Given the description of an element on the screen output the (x, y) to click on. 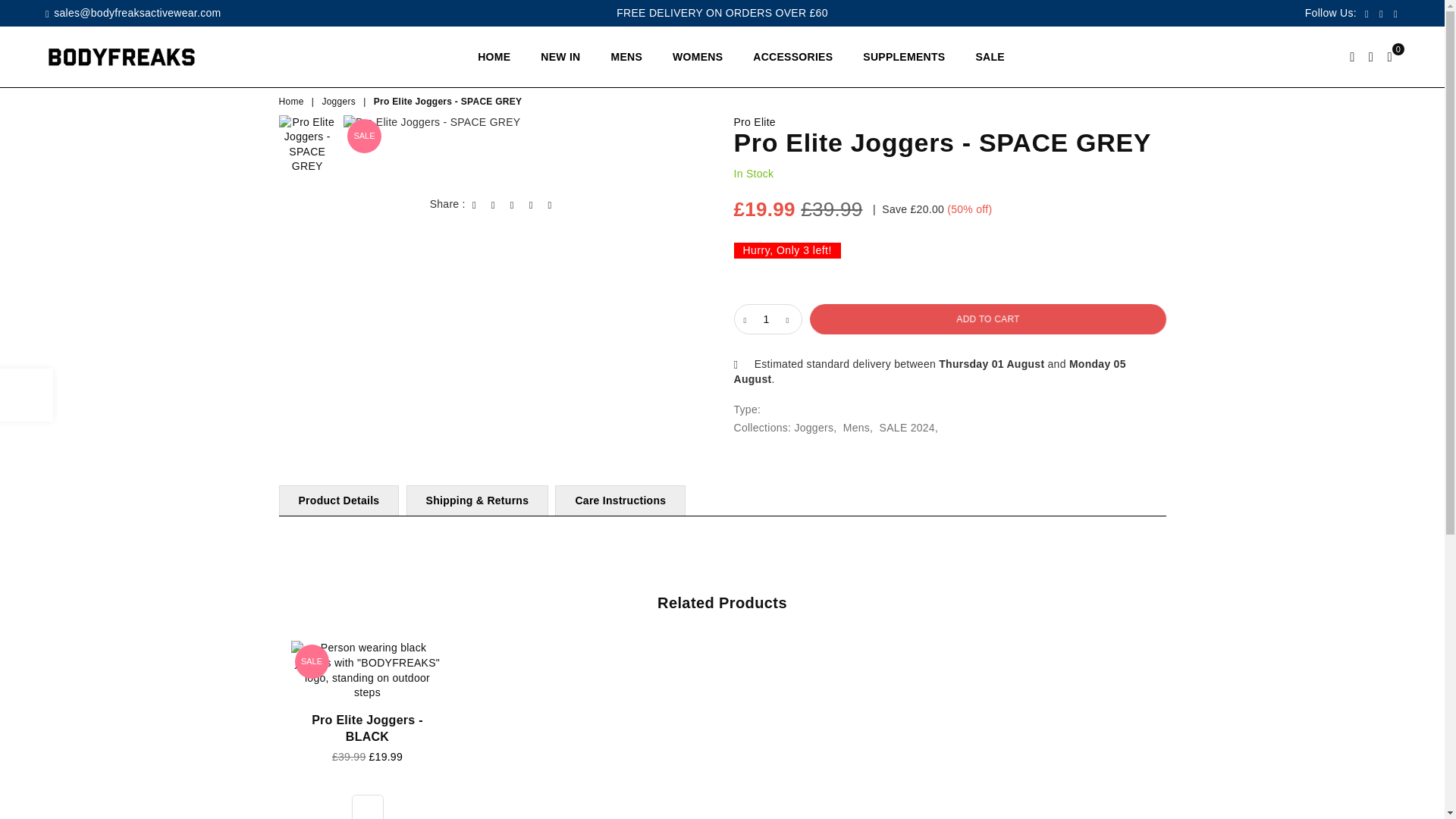
HOME (493, 56)
SUPPLEMENTS (903, 56)
Tweet on Twitter (493, 204)
Bodyfreaks Activewear (132, 56)
Twitter (1381, 13)
Share by Email (550, 204)
WOMENS (697, 56)
Facebook (1366, 13)
Bodyfreaks Activewear on Instagram (1396, 13)
Back to the home page (292, 101)
Quantity (767, 318)
Bodyfreaks Activewear on Facebook (1366, 13)
MENS (625, 56)
NEW IN (560, 56)
Bodyfreaks Activewear on Twitter (1381, 13)
